Given the description of an element on the screen output the (x, y) to click on. 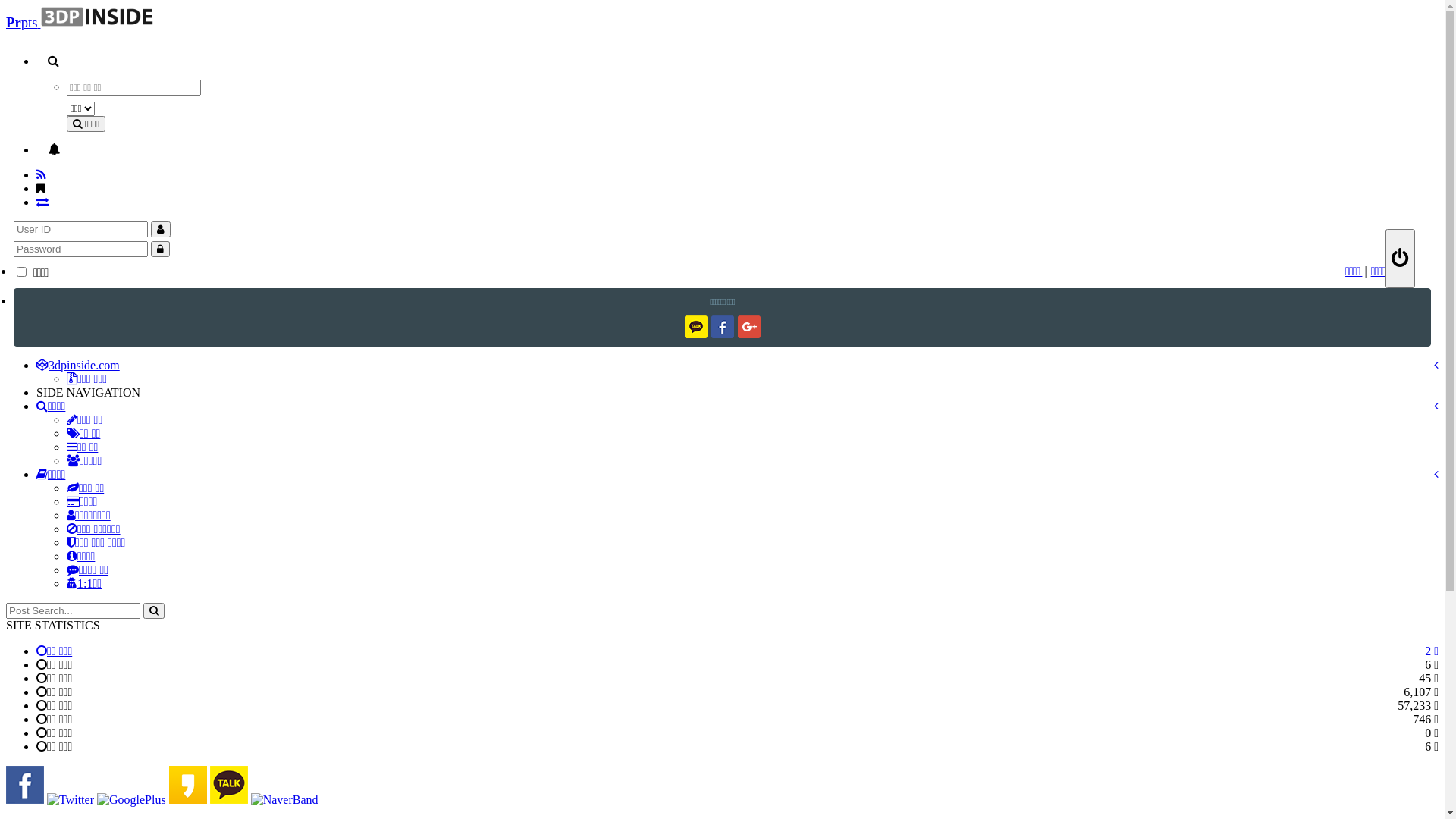
Prpts Element type: text (79, 22)
3dpinside.com Element type: text (77, 364)
0 Element type: text (737, 149)
